Given the description of an element on the screen output the (x, y) to click on. 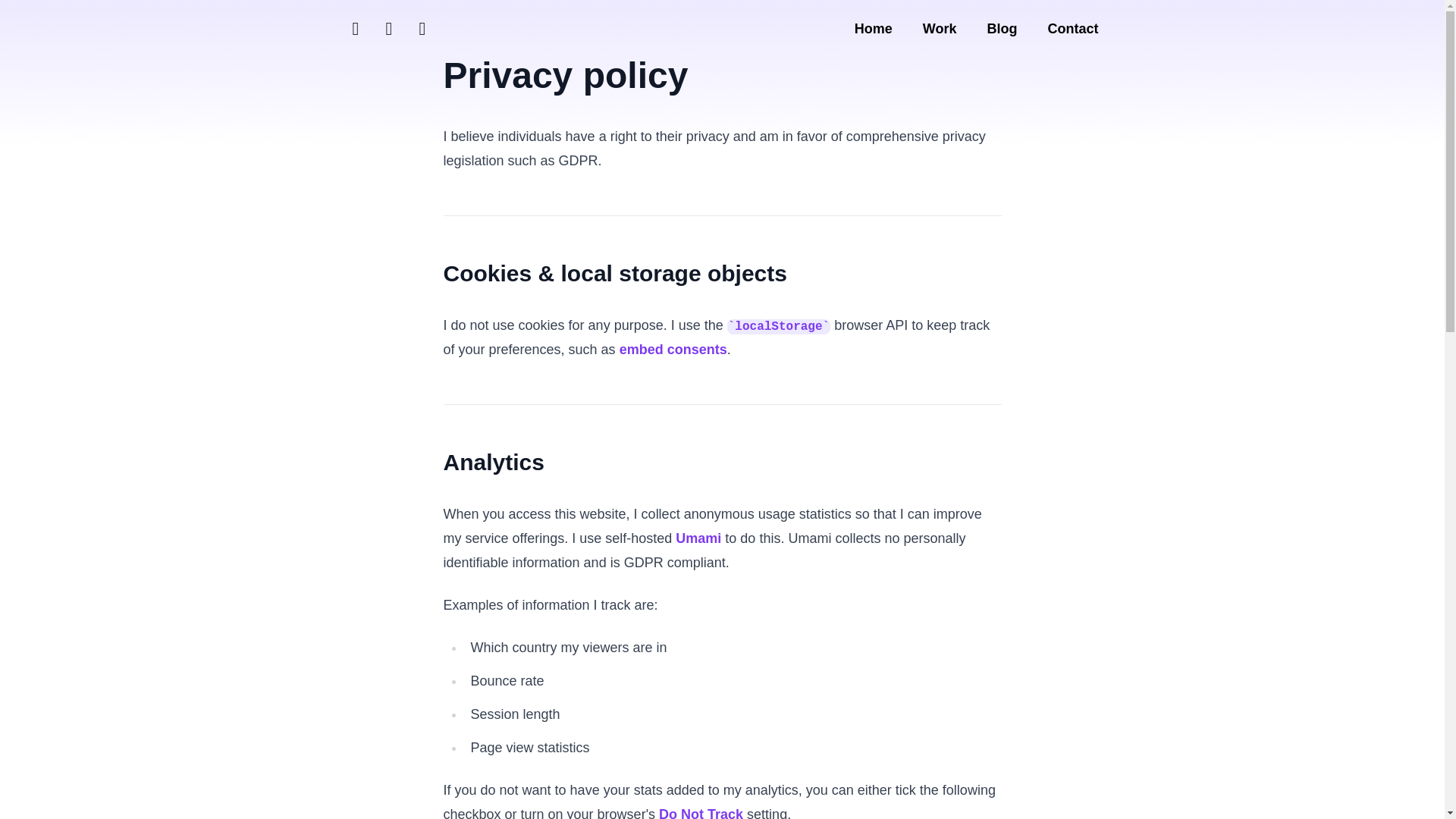
embed consents (673, 349)
Email (356, 27)
Contact (1070, 28)
Work (939, 28)
Home (876, 28)
GitHub (422, 27)
Umami (697, 538)
Blog (1002, 28)
LinkedIn (389, 27)
localStorage (777, 324)
Do Not Track (700, 812)
